Given the description of an element on the screen output the (x, y) to click on. 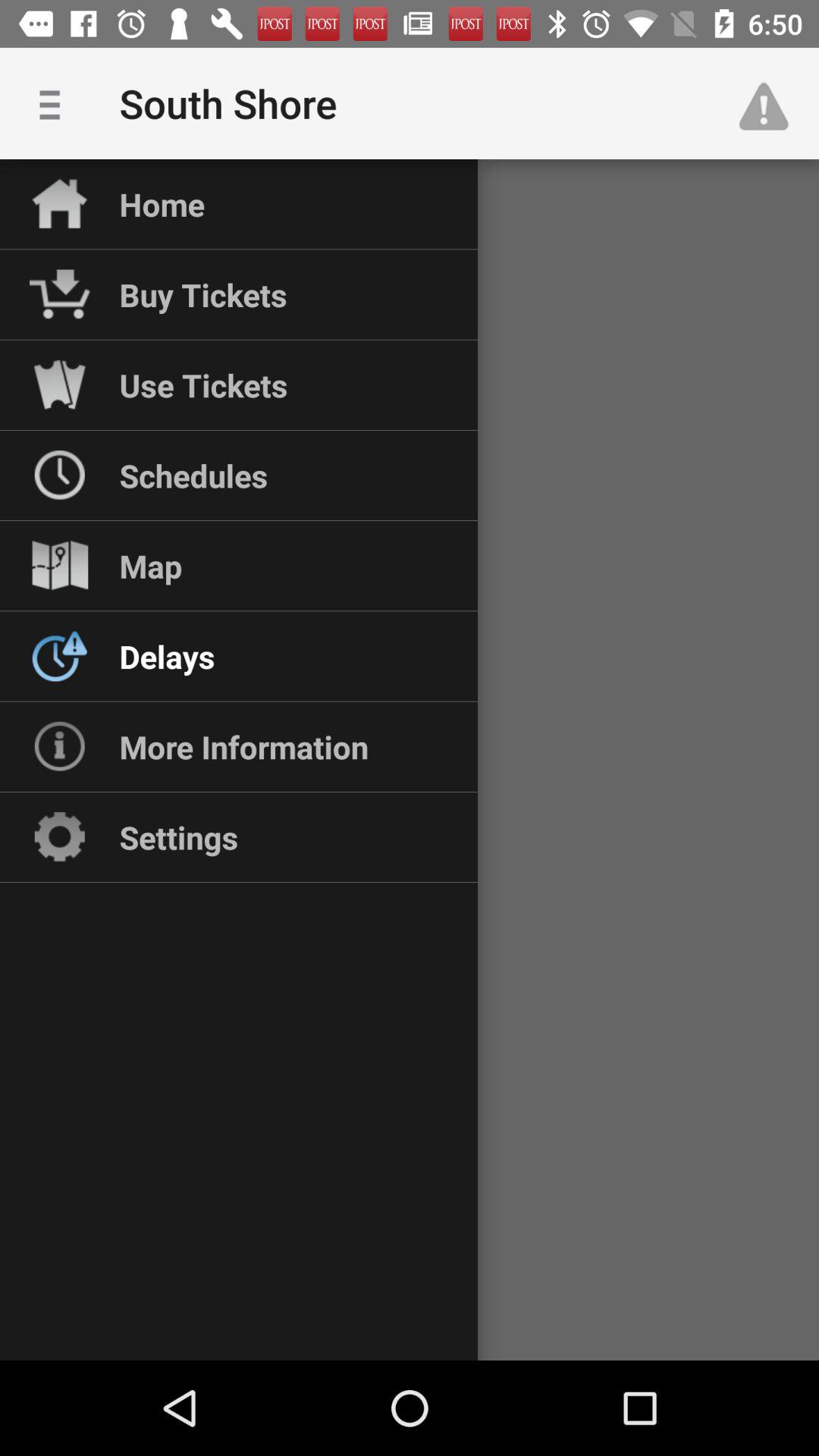
scroll until buy tickets item (203, 294)
